Given the description of an element on the screen output the (x, y) to click on. 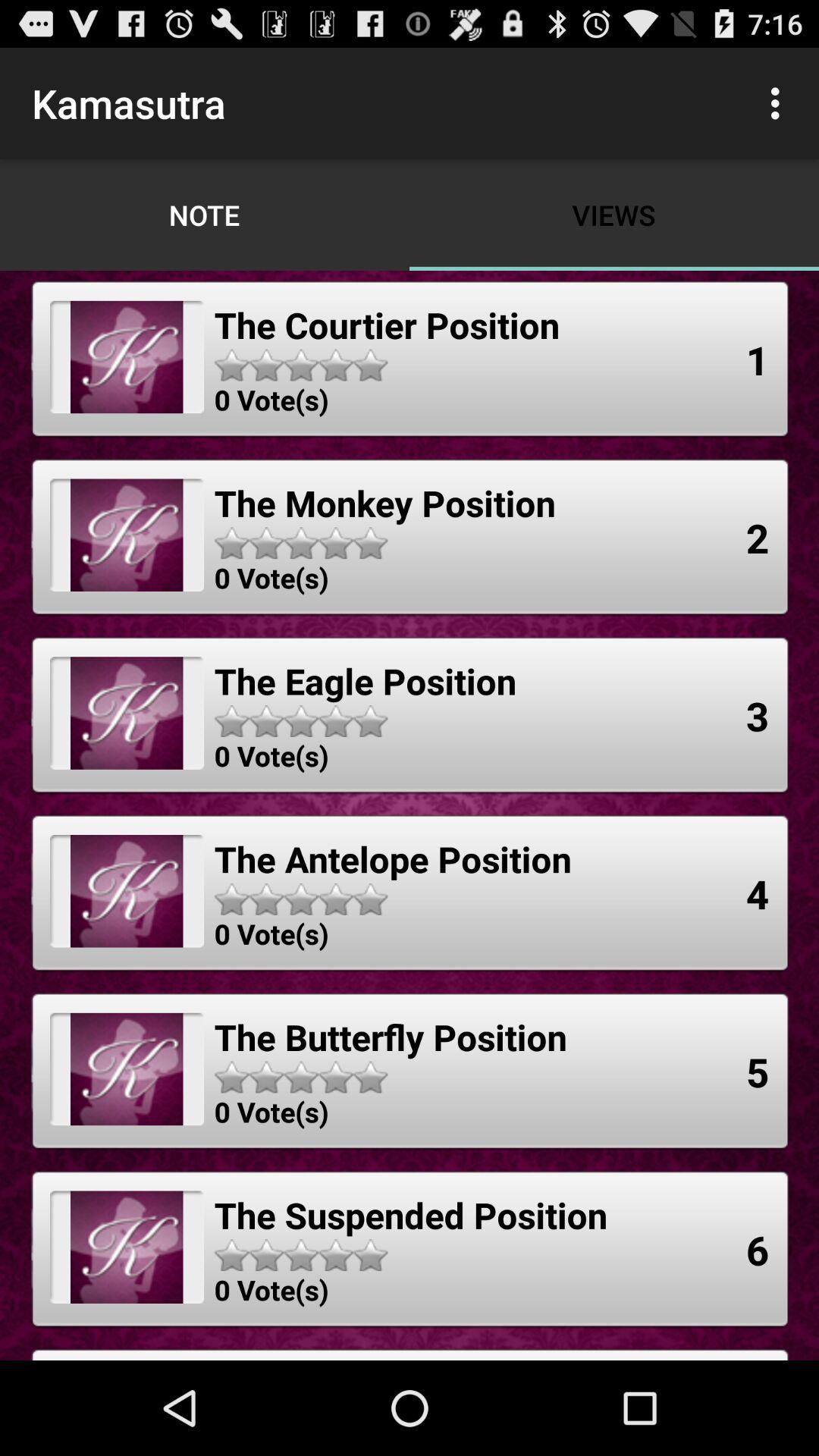
swipe to 4 app (757, 893)
